Given the description of an element on the screen output the (x, y) to click on. 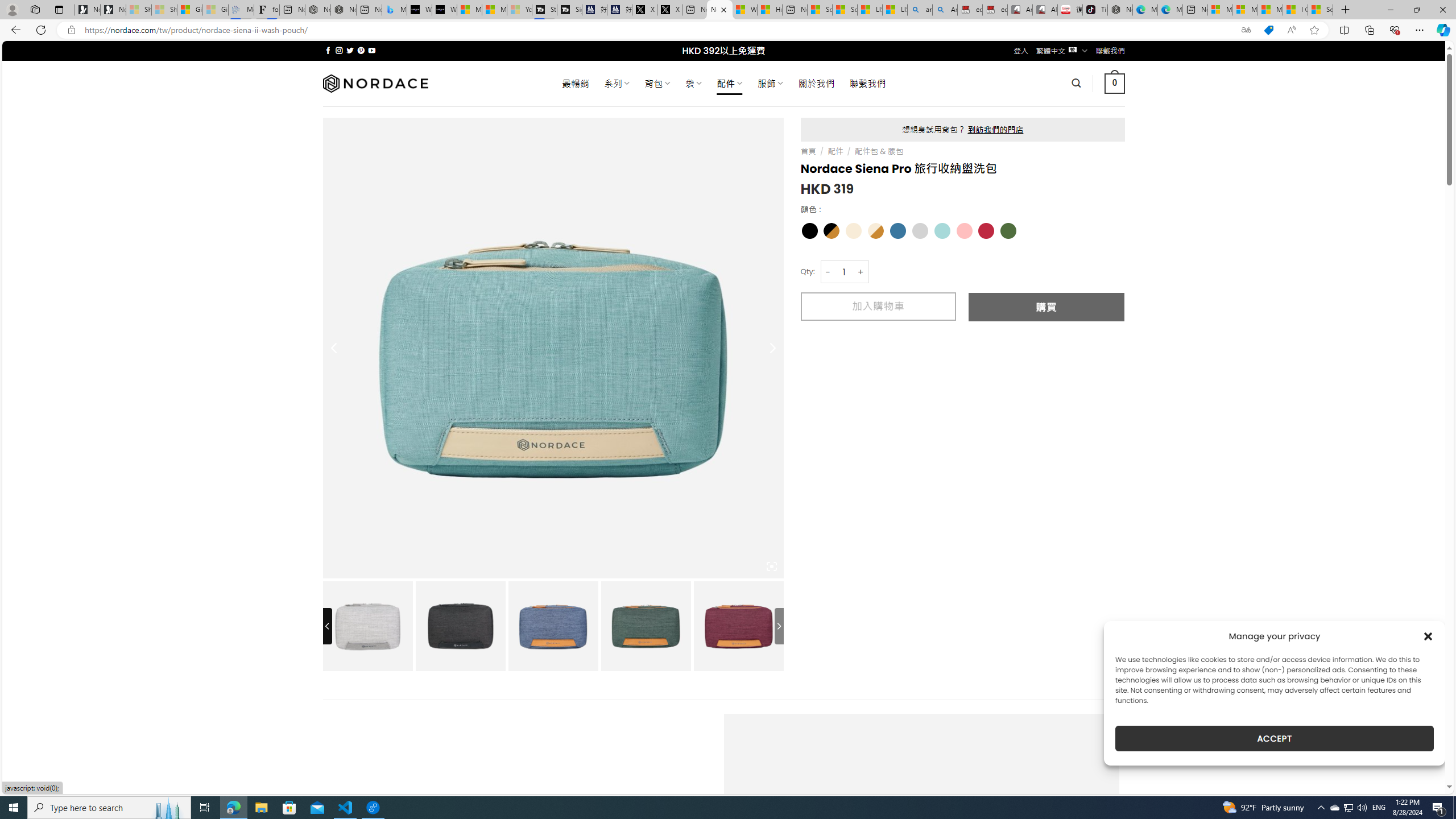
Streaming Coverage | T3 (544, 9)
Follow on Pinterest (360, 50)
Follow on Instagram (338, 50)
X (669, 9)
Nordace - #1 Japanese Best-Seller - Siena Smart Backpack (343, 9)
 0  (1115, 83)
